Given the description of an element on the screen output the (x, y) to click on. 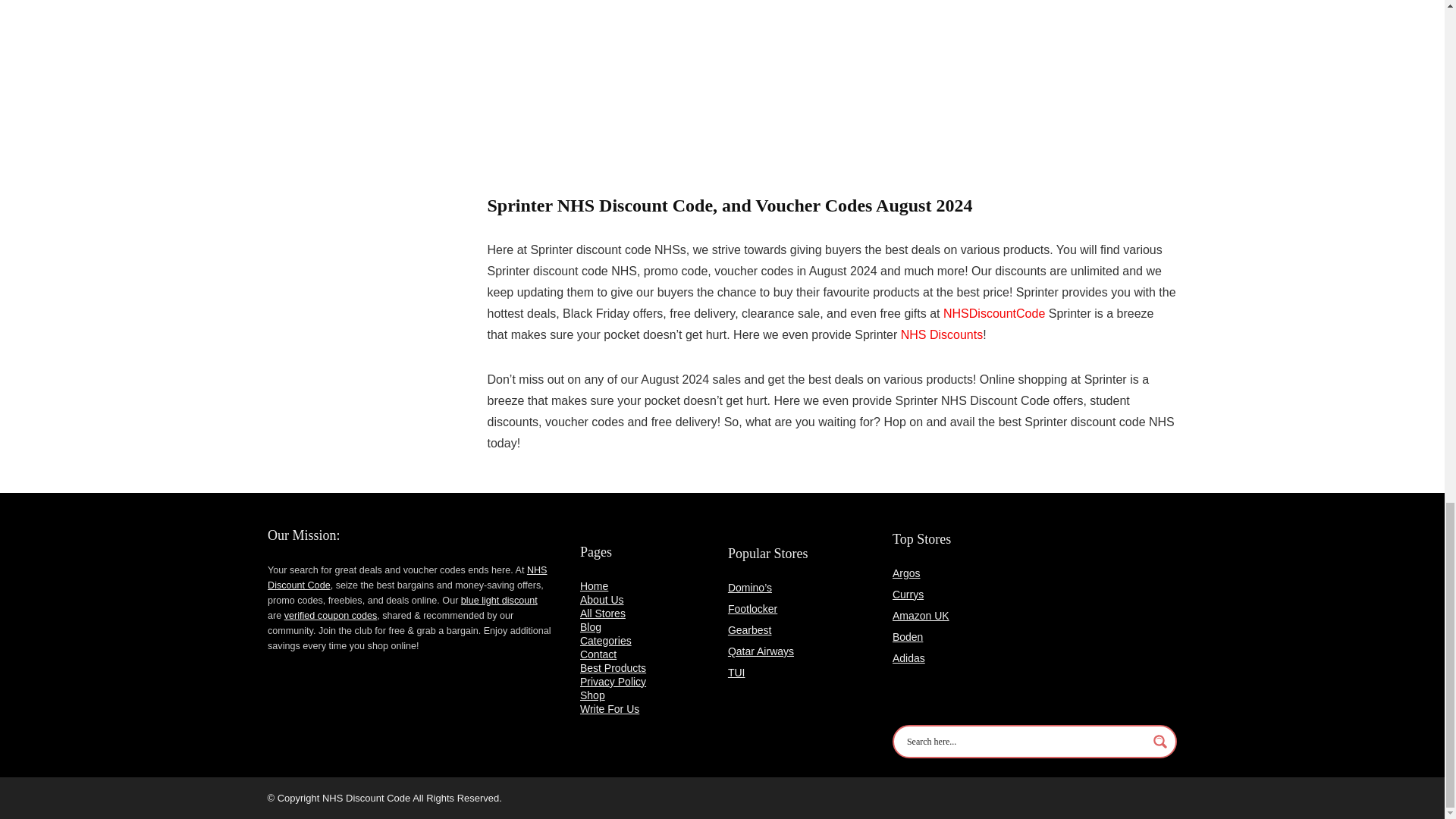
NHSDiscountCode (994, 313)
Home (593, 585)
NHS Discount Code (407, 577)
NHS Discounts (941, 334)
discount (519, 600)
blue light (481, 600)
verified coupon codes (330, 615)
YouTube video player (698, 89)
